Given the description of an element on the screen output the (x, y) to click on. 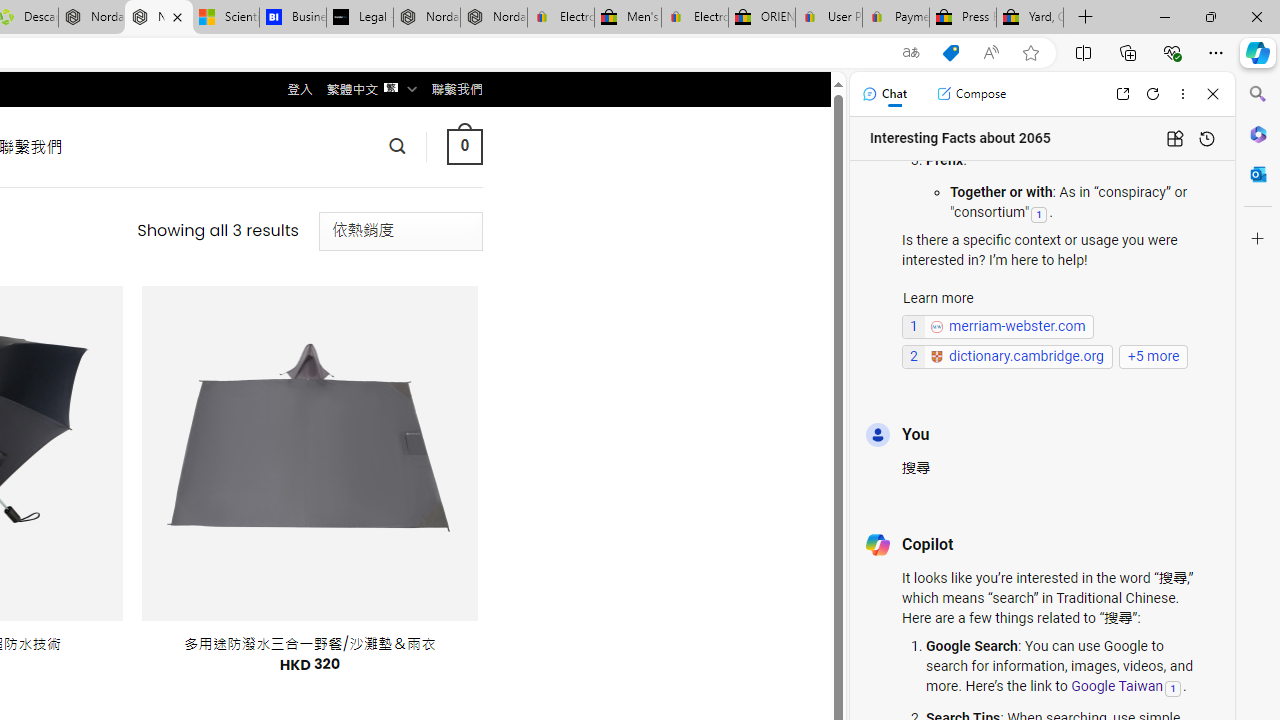
This site has coupons! Shopping in Microsoft Edge (950, 53)
  0   (464, 146)
